Given the description of an element on the screen output the (x, y) to click on. 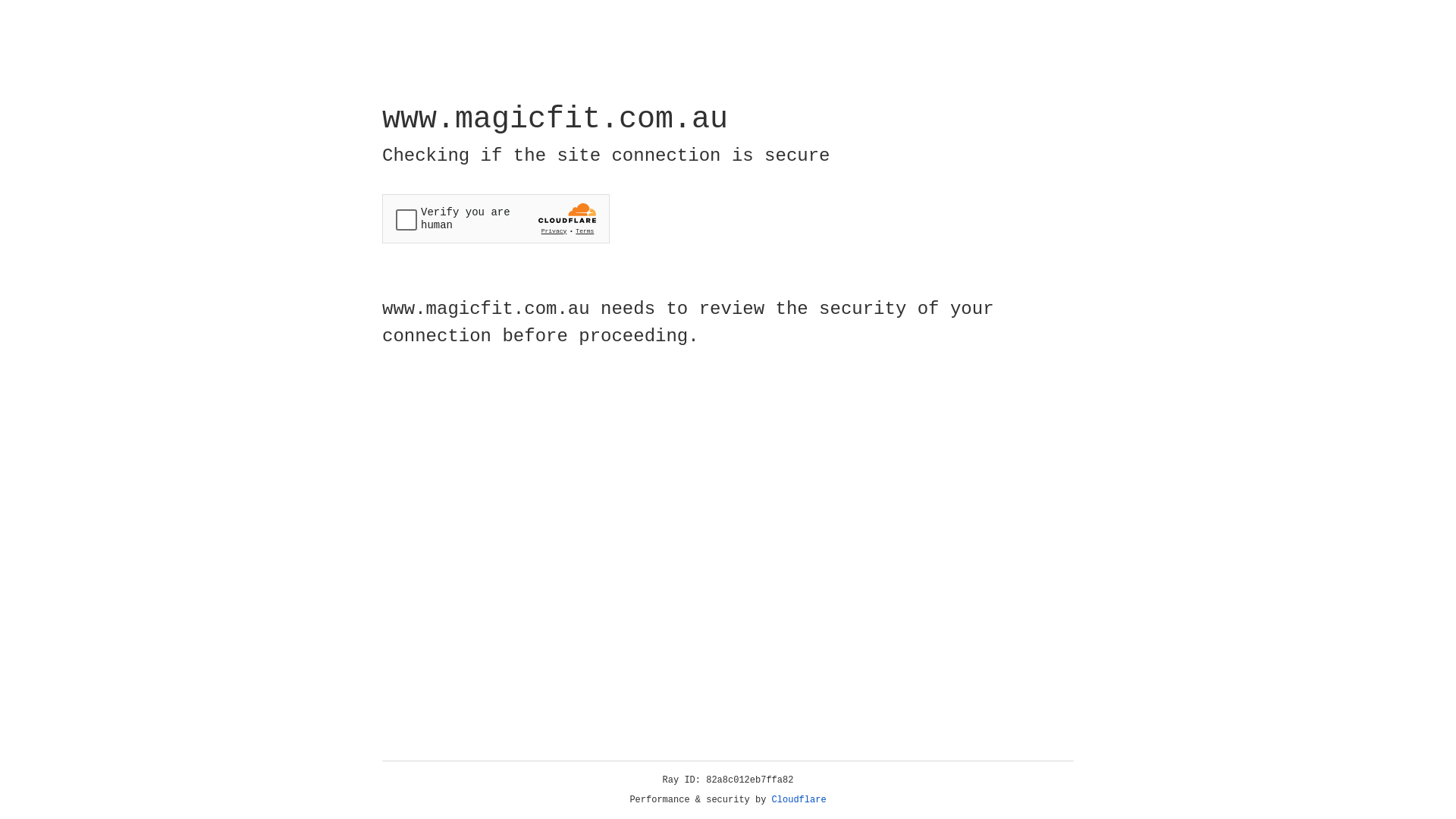
Widget containing a Cloudflare security challenge Element type: hover (495, 218)
Cloudflare Element type: text (798, 799)
